Given the description of an element on the screen output the (x, y) to click on. 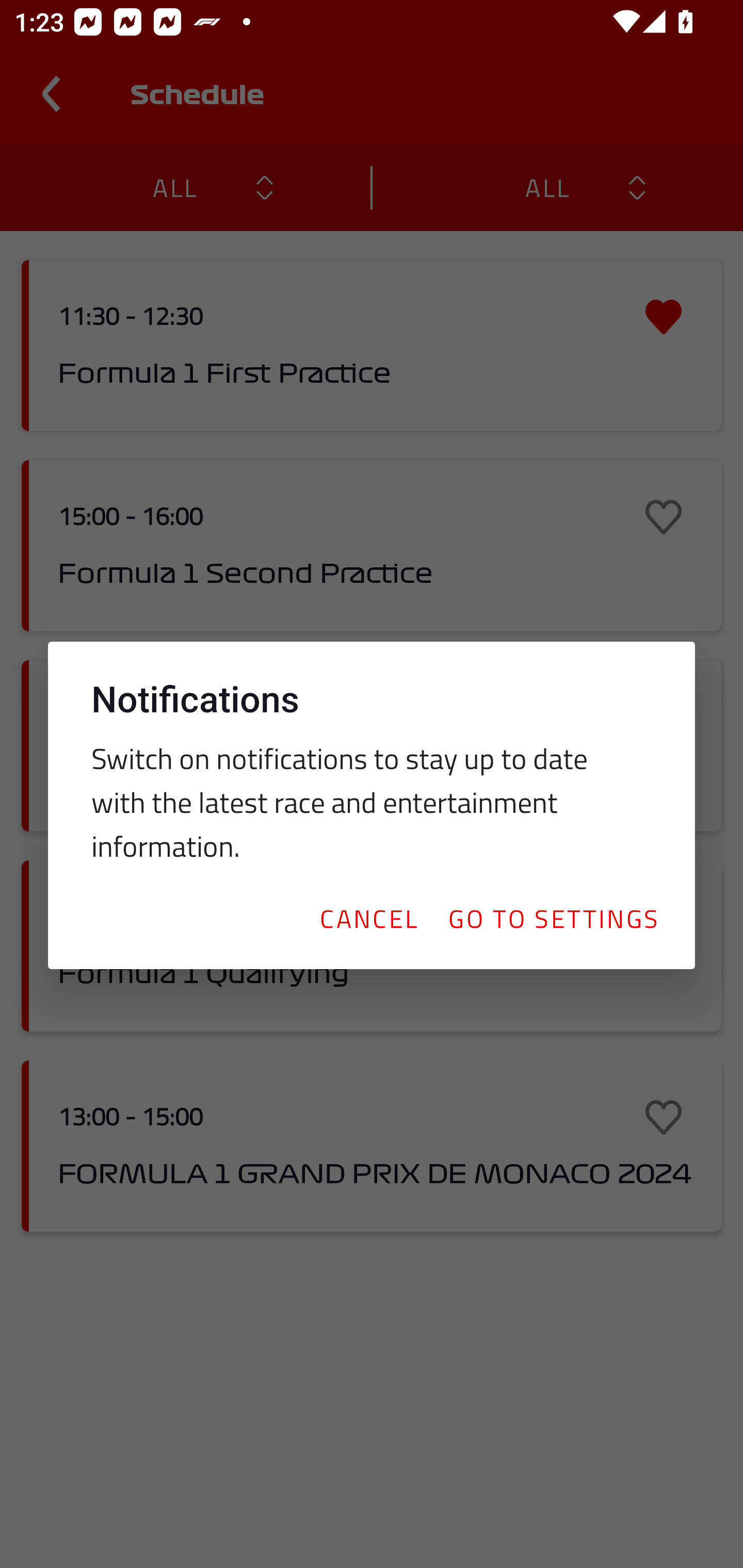
CANCEL (367, 917)
GO TO SETTINGS (552, 917)
